Given the description of an element on the screen output the (x, y) to click on. 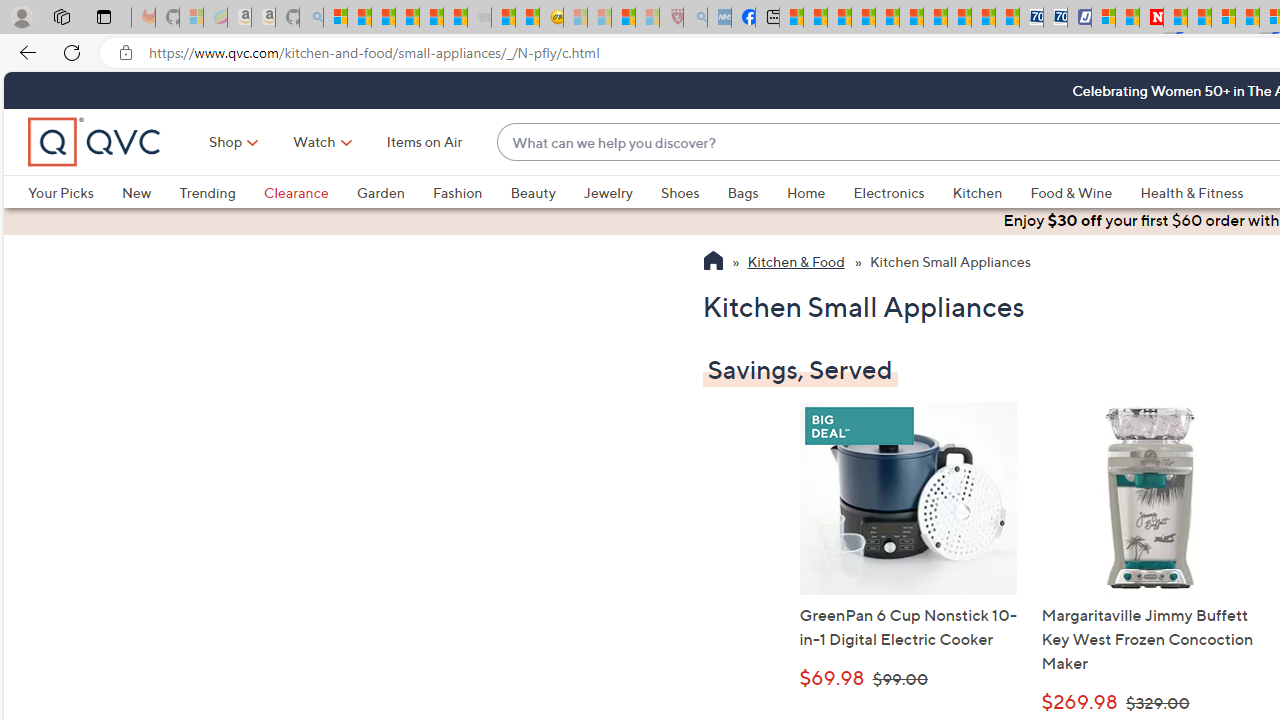
Beauty (546, 192)
Food & Wine (1071, 192)
Shoes (680, 192)
Kitchen (977, 192)
QVC home (95, 141)
The Weather Channel - MSN (383, 17)
